Given the description of an element on the screen output the (x, y) to click on. 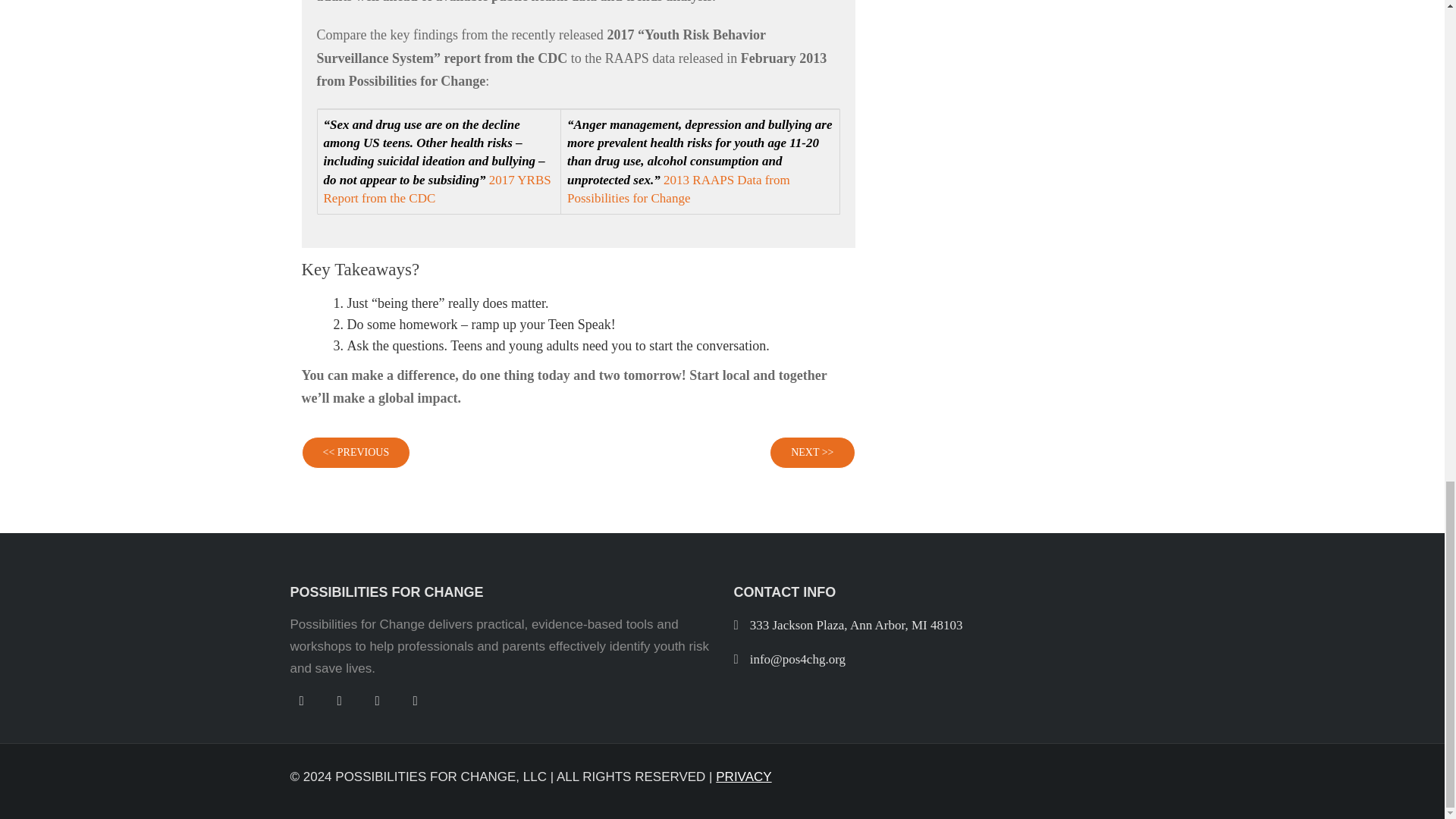
Twitter (301, 698)
2017 YRBS Report from the CDC (436, 188)
Facebook (338, 698)
Instagram (414, 698)
2013 RAAPS Data from Possibilities for Change (678, 188)
Linkedin (376, 698)
